Given the description of an element on the screen output the (x, y) to click on. 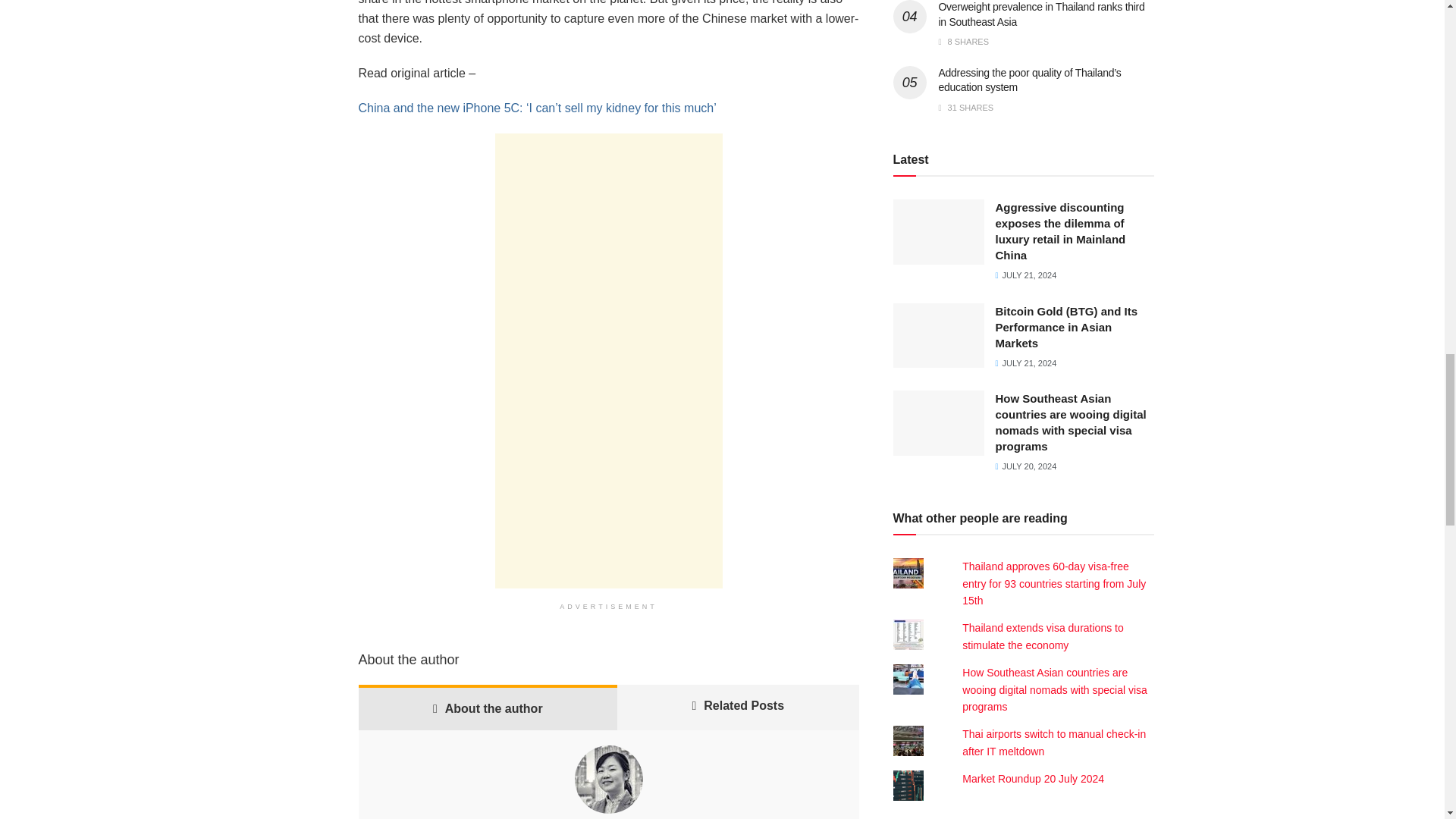
Thailand extends visa durations to stimulate the economy (1042, 635)
